Given the description of an element on the screen output the (x, y) to click on. 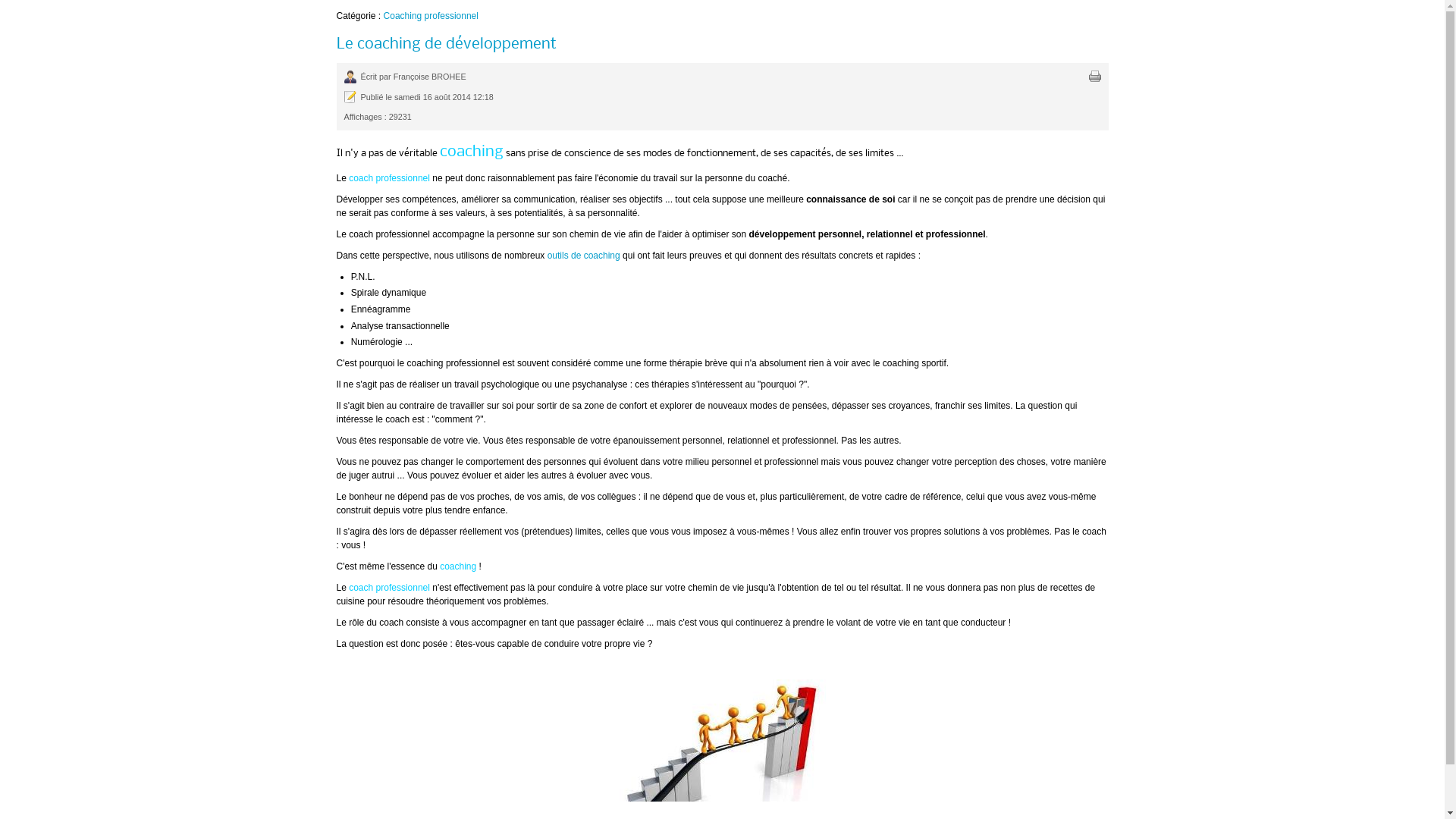
Coaching professionnel Element type: text (430, 15)
  Element type: text (1094, 76)
outils de coaching Element type: text (583, 255)
